Given the description of an element on the screen output the (x, y) to click on. 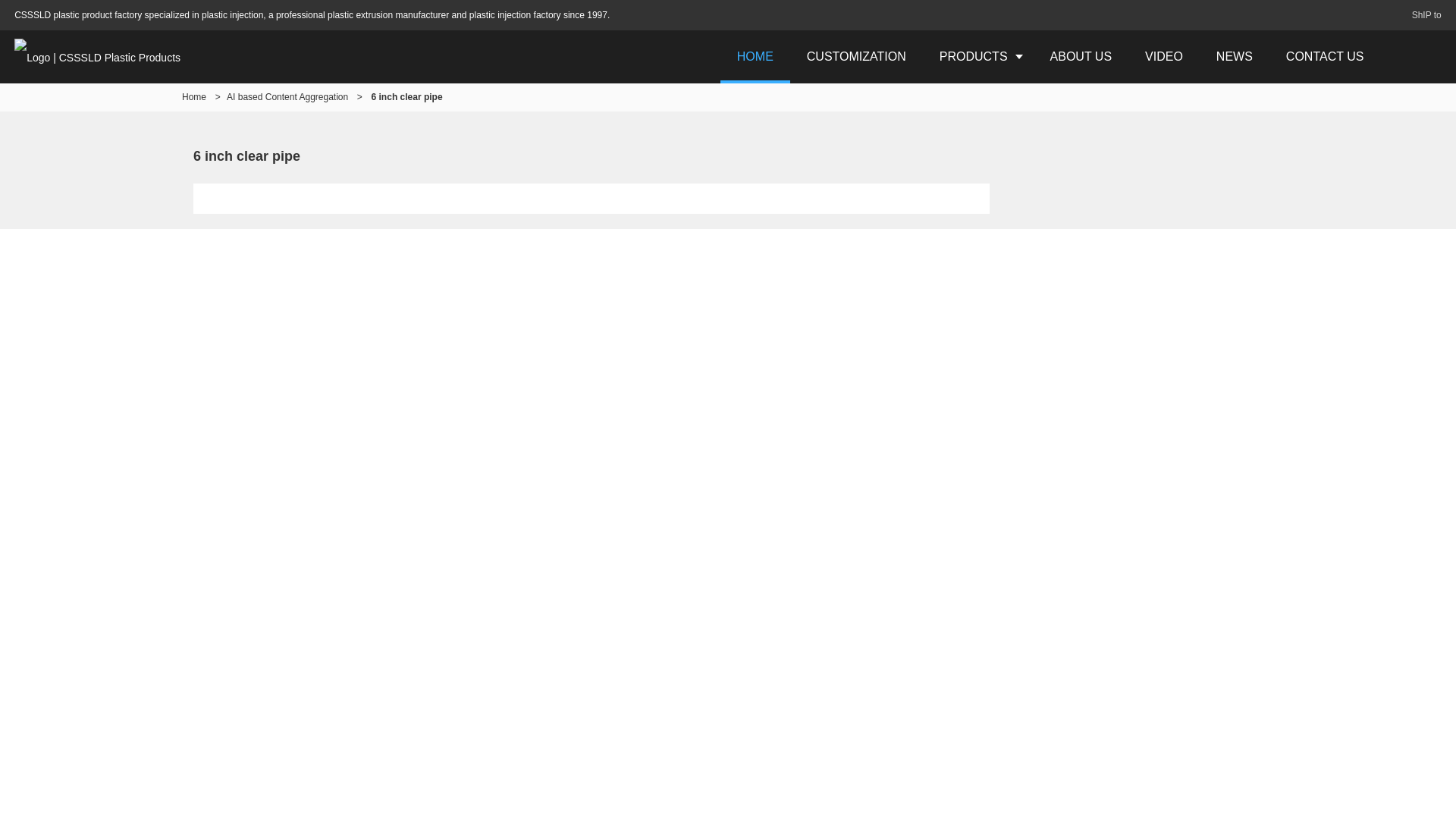
CUSTOMIZATION (856, 56)
CONTACT US (1324, 56)
HOME (755, 56)
ABOUT US (1081, 56)
VIDEO (1163, 56)
PRODUCTS (978, 56)
NEWS (1234, 56)
Home (194, 96)
AI based Content Aggregation (287, 96)
